Given the description of an element on the screen output the (x, y) to click on. 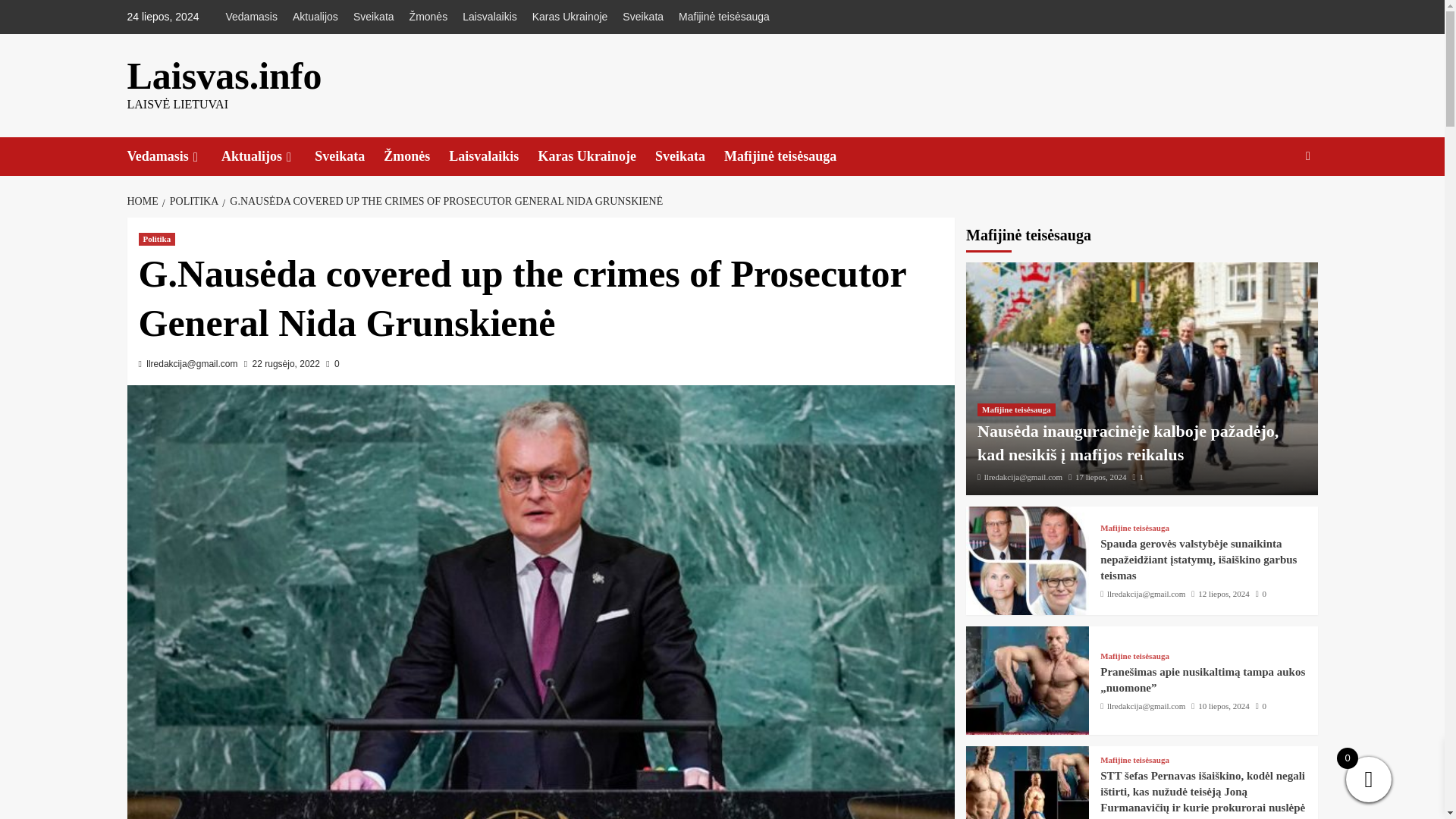
Aktualijos (315, 17)
Laisvalaikis (492, 156)
Politika (156, 238)
Karas Ukrainoje (569, 17)
Vedamasis (175, 156)
Laisvalaikis (489, 17)
Laisvas.info (224, 75)
Vedamasis (254, 17)
Sveikata (642, 17)
Sveikata (349, 156)
POLITIKA (191, 201)
0 (332, 363)
HOME (144, 201)
Sveikata (689, 156)
Sveikata (373, 17)
